Given the description of an element on the screen output the (x, y) to click on. 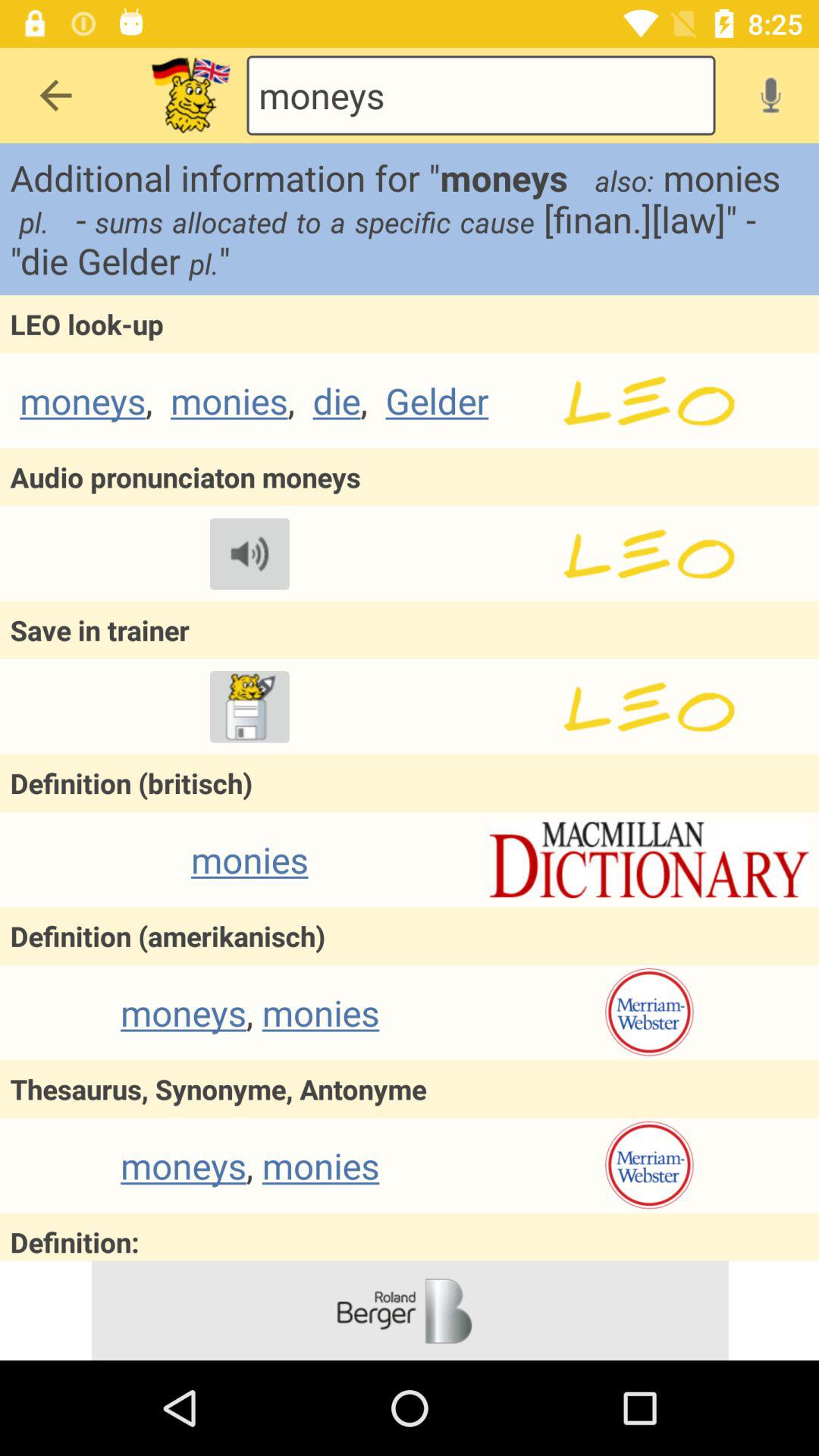
leo optioni (648, 706)
